Given the description of an element on the screen output the (x, y) to click on. 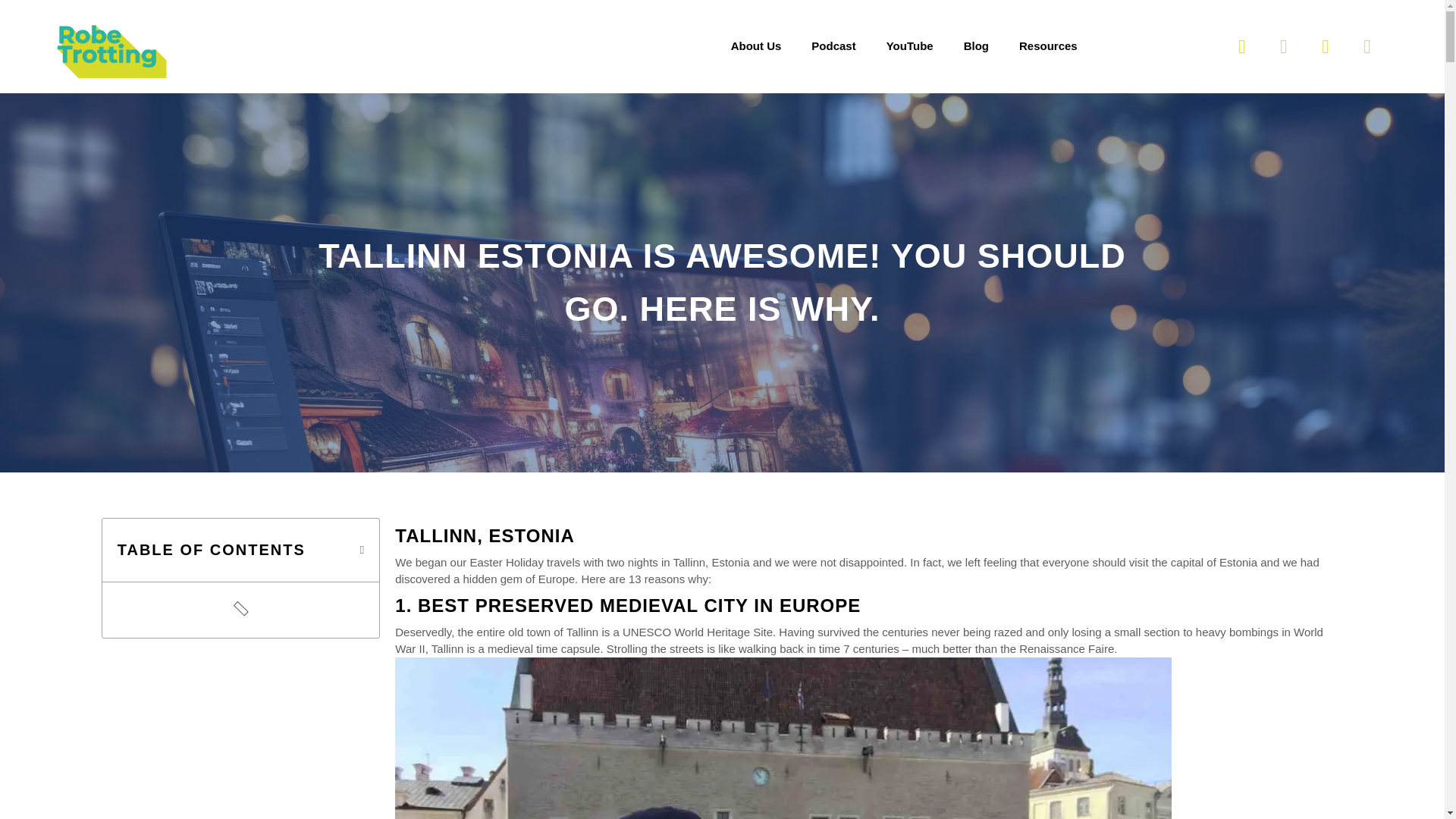
YouTube (909, 45)
Blog (976, 45)
About Us (756, 45)
Podcast (833, 45)
Resources (1048, 45)
